Given the description of an element on the screen output the (x, y) to click on. 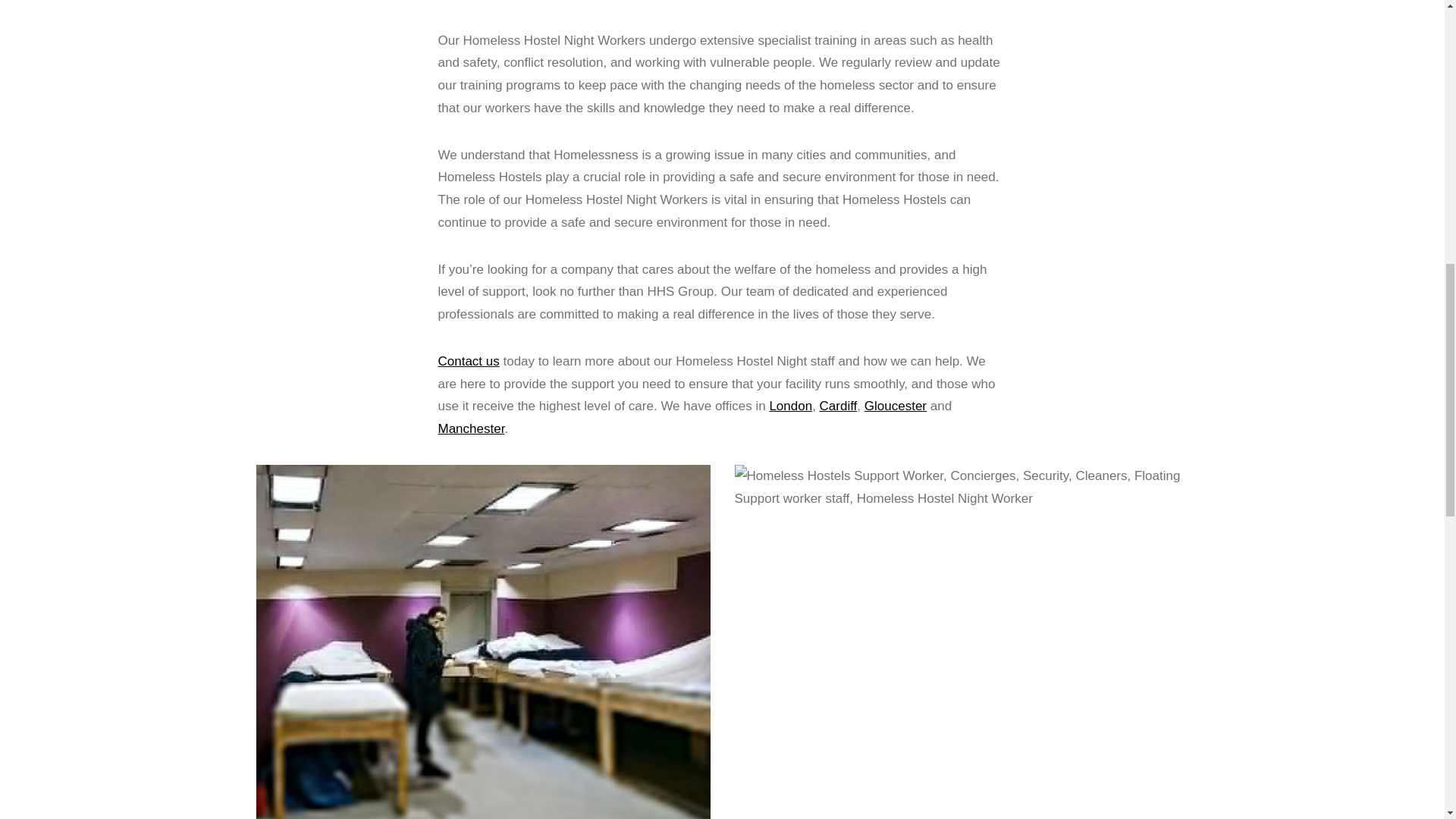
Manchester (471, 428)
Contact us (468, 360)
Gloucester (895, 405)
London (790, 405)
Cardiff (838, 405)
